Given the description of an element on the screen output the (x, y) to click on. 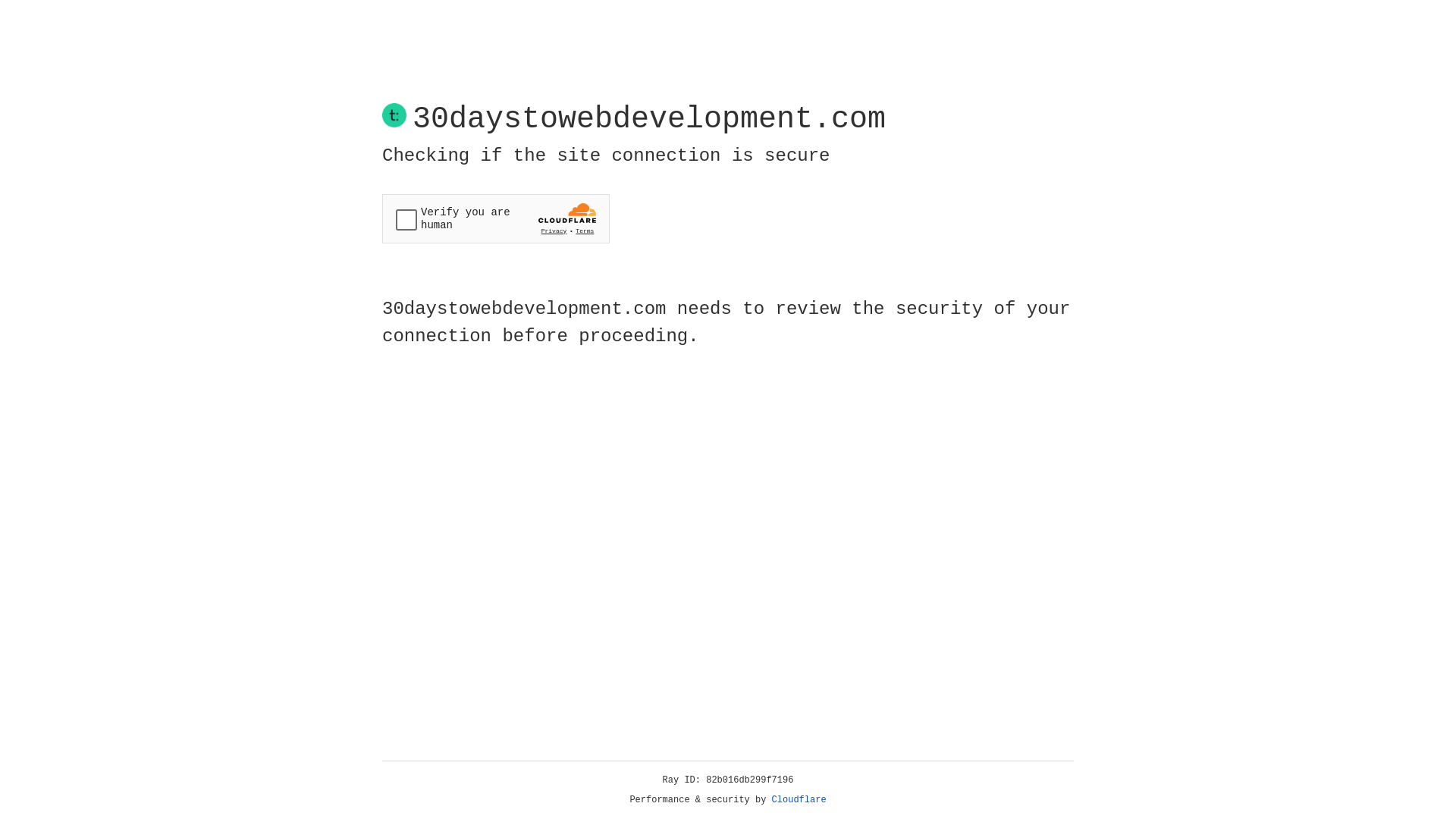
Widget containing a Cloudflare security challenge Element type: hover (495, 218)
Cloudflare Element type: text (798, 799)
